Given the description of an element on the screen output the (x, y) to click on. 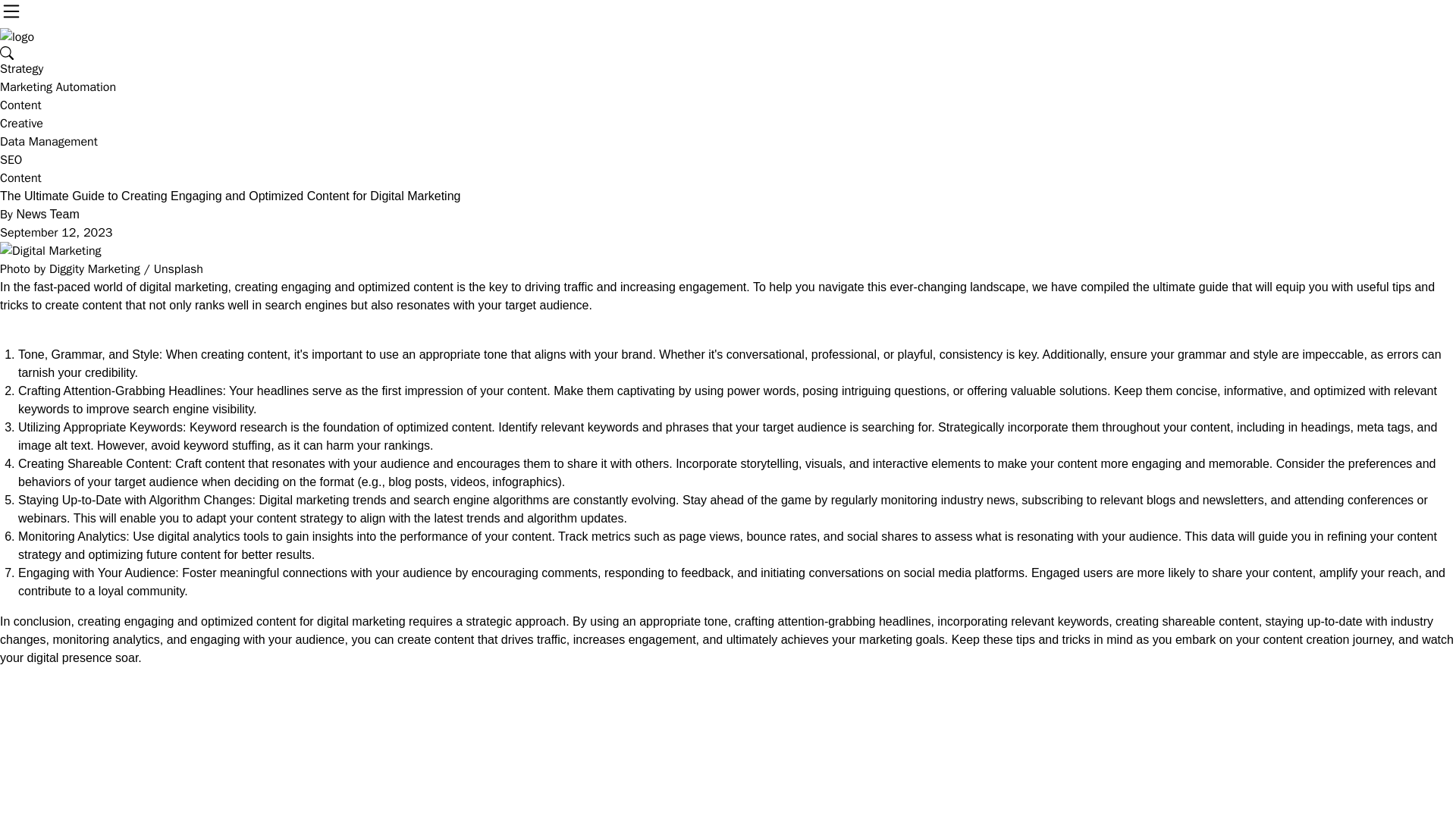
Creative (21, 123)
SEO (10, 159)
Marketing Automation (58, 87)
Diggity Marketing (94, 268)
Content (21, 105)
Unsplash (178, 268)
Strategy (21, 68)
Data Management (48, 141)
News Team (47, 214)
